Given the description of an element on the screen output the (x, y) to click on. 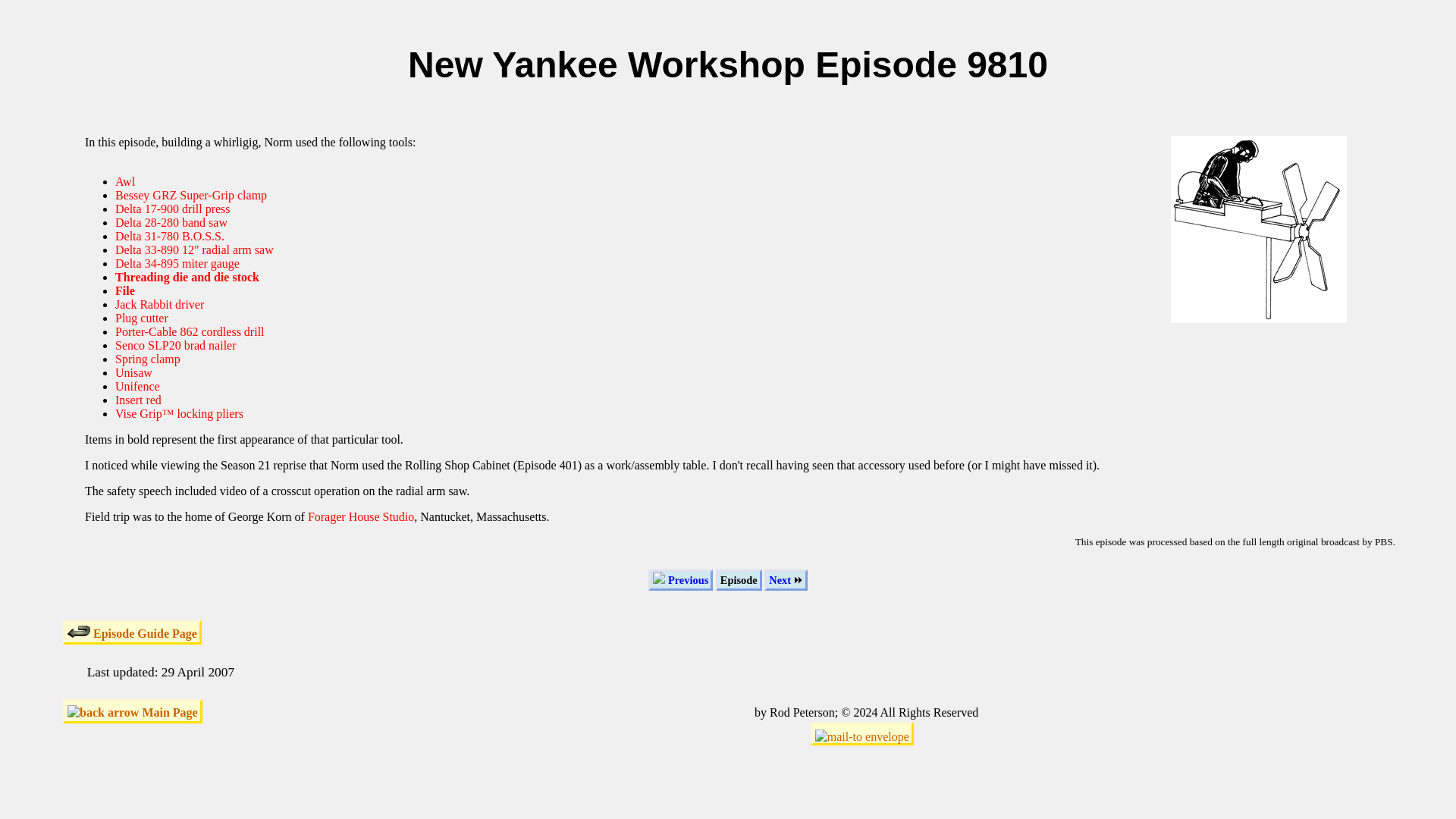
Delta 31-780 B.O.S.S. (169, 236)
Awl (125, 181)
Senco SLP20 brad nailer (175, 345)
Previous (680, 579)
Forager House Studio (360, 516)
Plug cutter (141, 318)
Return to Episode Guide (132, 631)
Delta 33-890 12" radial arm saw (194, 249)
Unifence (137, 386)
Delta 28-280 band saw (171, 222)
File (125, 290)
Previous Episode (680, 579)
Next (785, 579)
Main Page (132, 711)
Return to Main Page (132, 711)
